Given the description of an element on the screen output the (x, y) to click on. 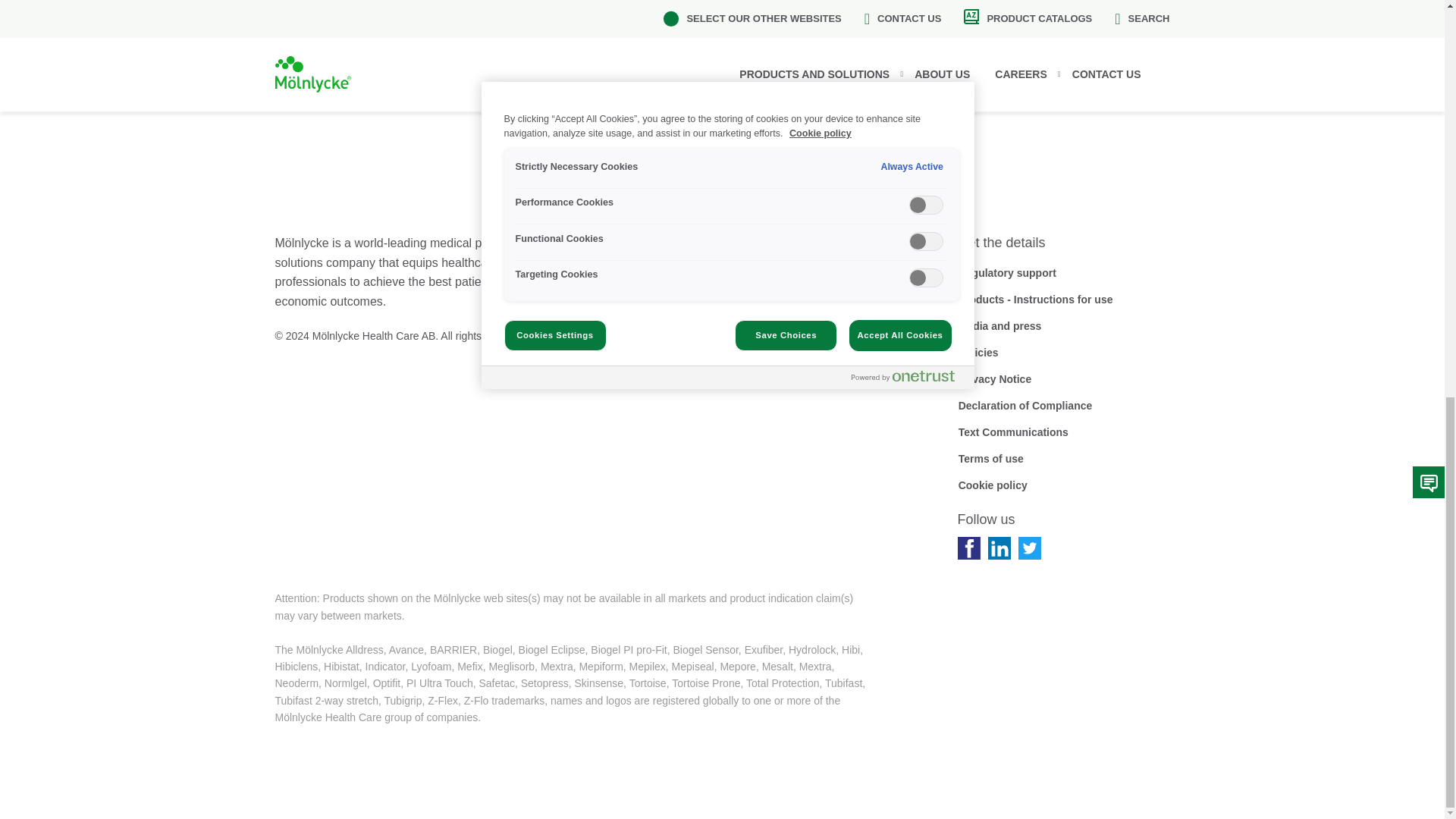
External links (765, 352)
Declaration of Compliance (1024, 405)
Policies (977, 352)
Cookie policy (992, 484)
Media and press (999, 325)
Read more about products and solutions (789, 299)
Terms of use (990, 458)
IFU (1035, 299)
